Given the description of an element on the screen output the (x, y) to click on. 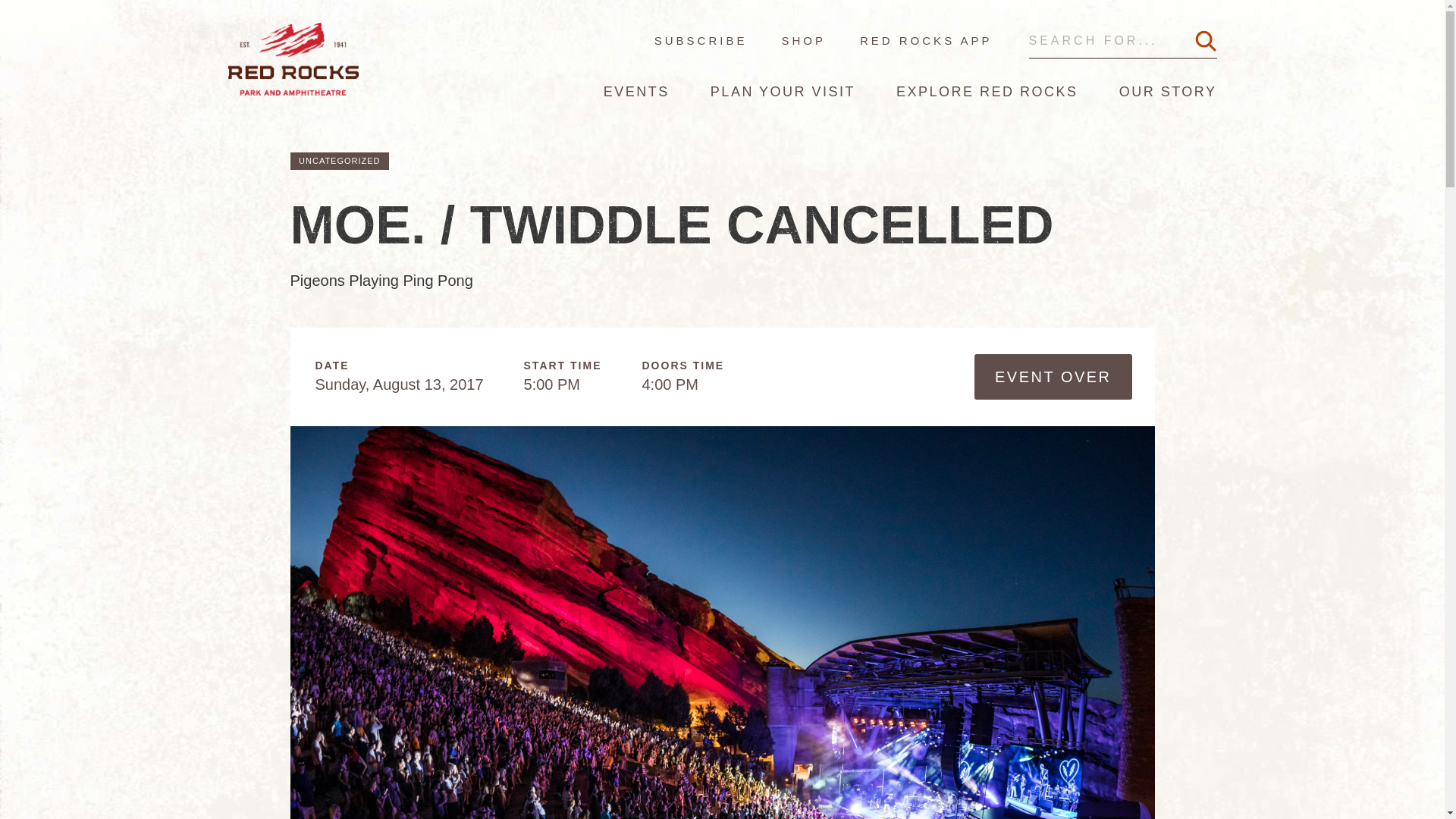
SHOP (785, 40)
RED ROCKS APP (908, 40)
PLAN YOUR VISIT (783, 91)
EVENTS (636, 91)
OUR STORY (1168, 91)
SUBSCRIBE (700, 40)
EXPLORE RED ROCKS (987, 91)
